Given the description of an element on the screen output the (x, y) to click on. 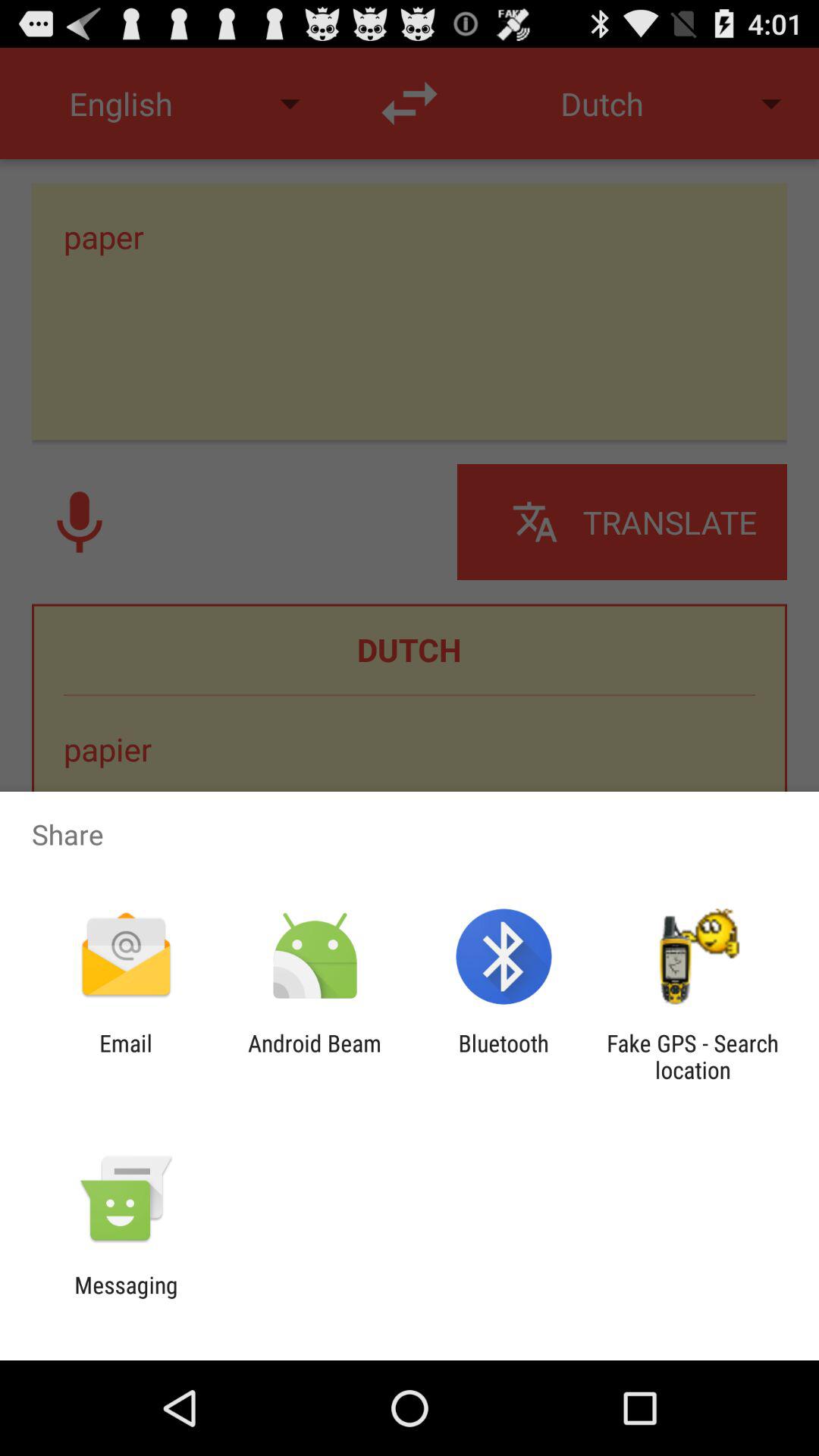
select email (125, 1056)
